Given the description of an element on the screen output the (x, y) to click on. 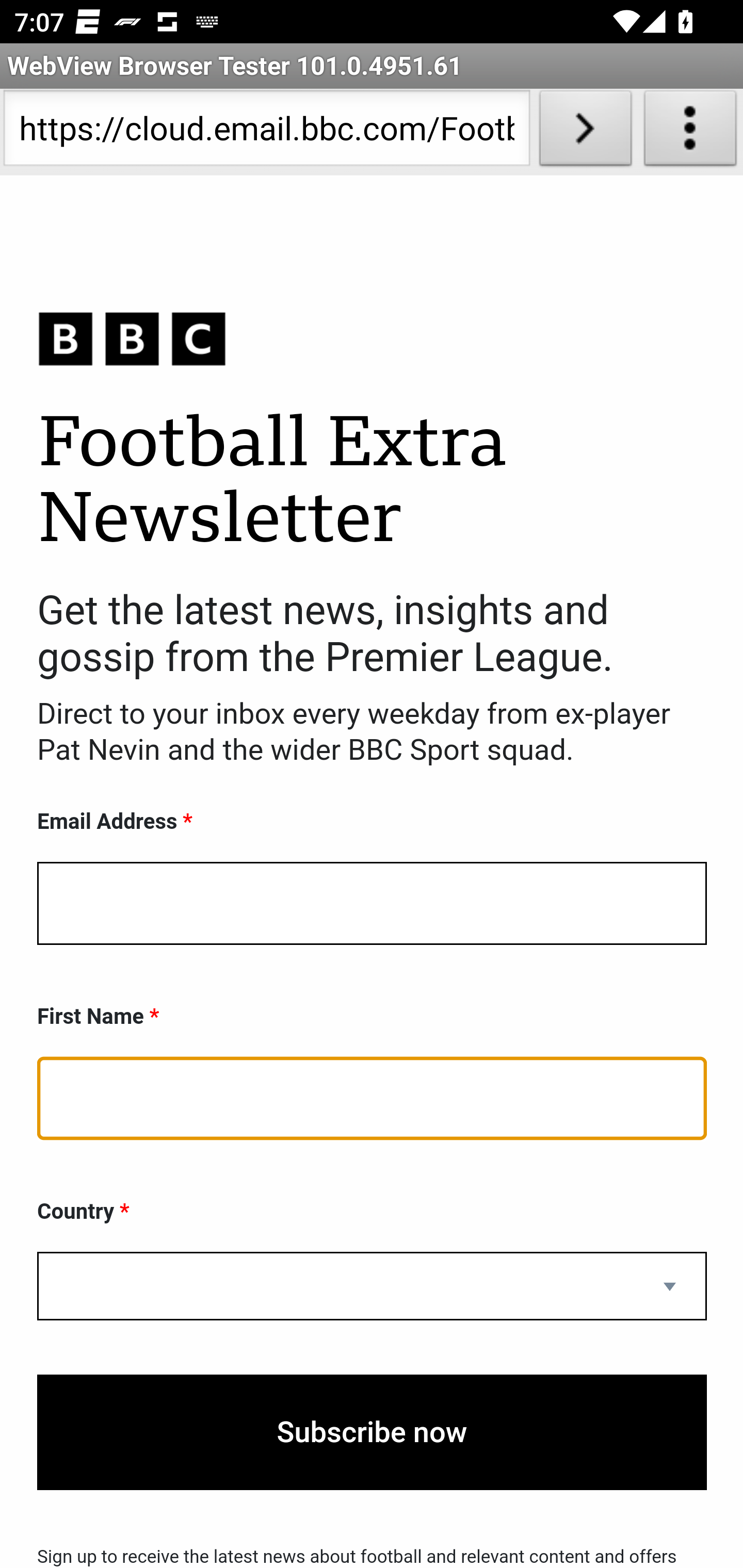
Load URL (585, 132)
About WebView (690, 132)
BBC (372, 338)
Subscribe now (372, 1432)
